Given the description of an element on the screen output the (x, y) to click on. 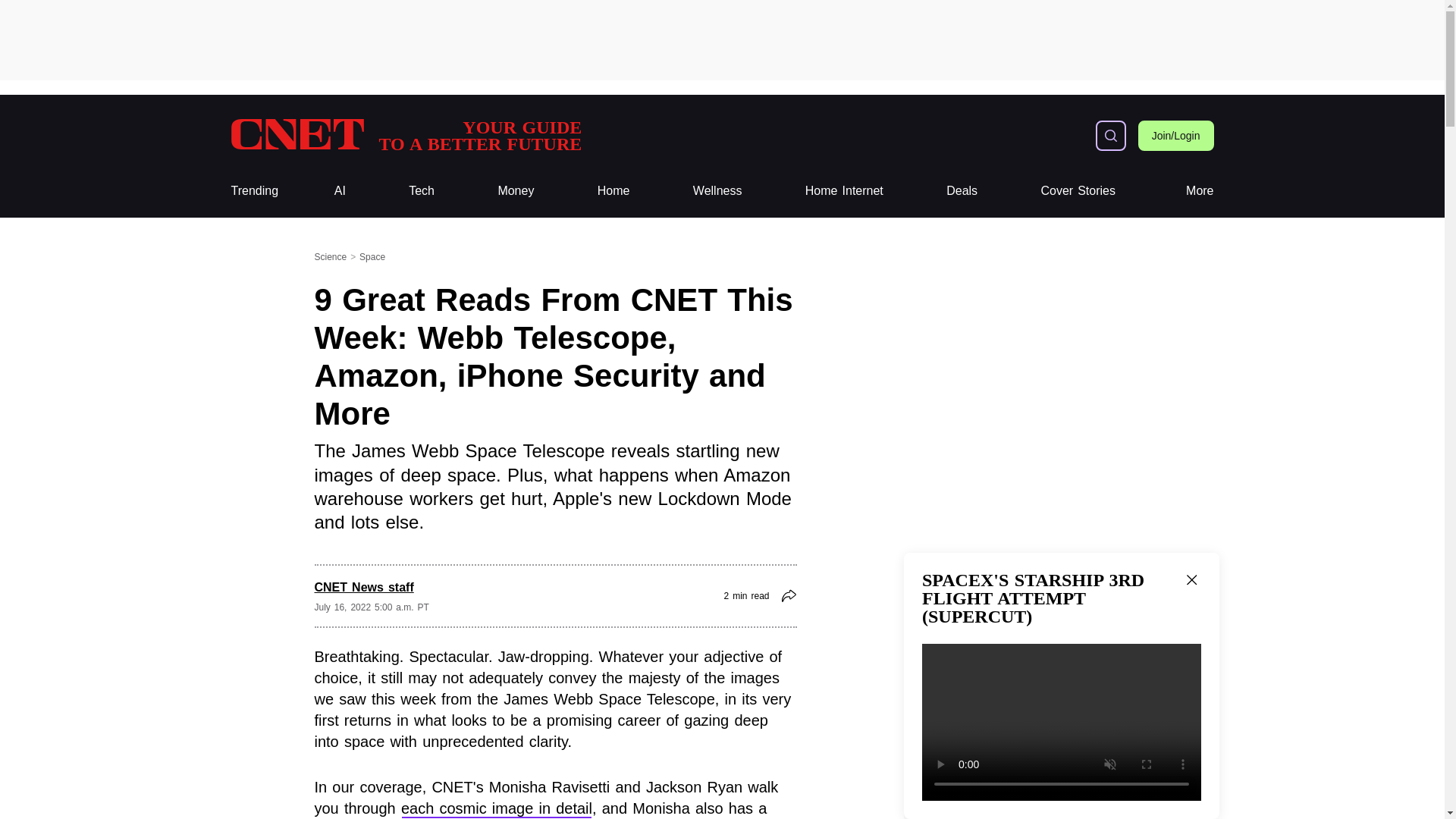
Wellness (717, 190)
Tech (421, 190)
Home (613, 190)
Wellness (717, 190)
Tech (421, 190)
Deals (961, 190)
Money (515, 190)
CNET (405, 135)
Cover Stories (405, 135)
More (1078, 190)
3rd party ad content (1199, 190)
Trending (721, 39)
Money (254, 190)
Trending (515, 190)
